Given the description of an element on the screen output the (x, y) to click on. 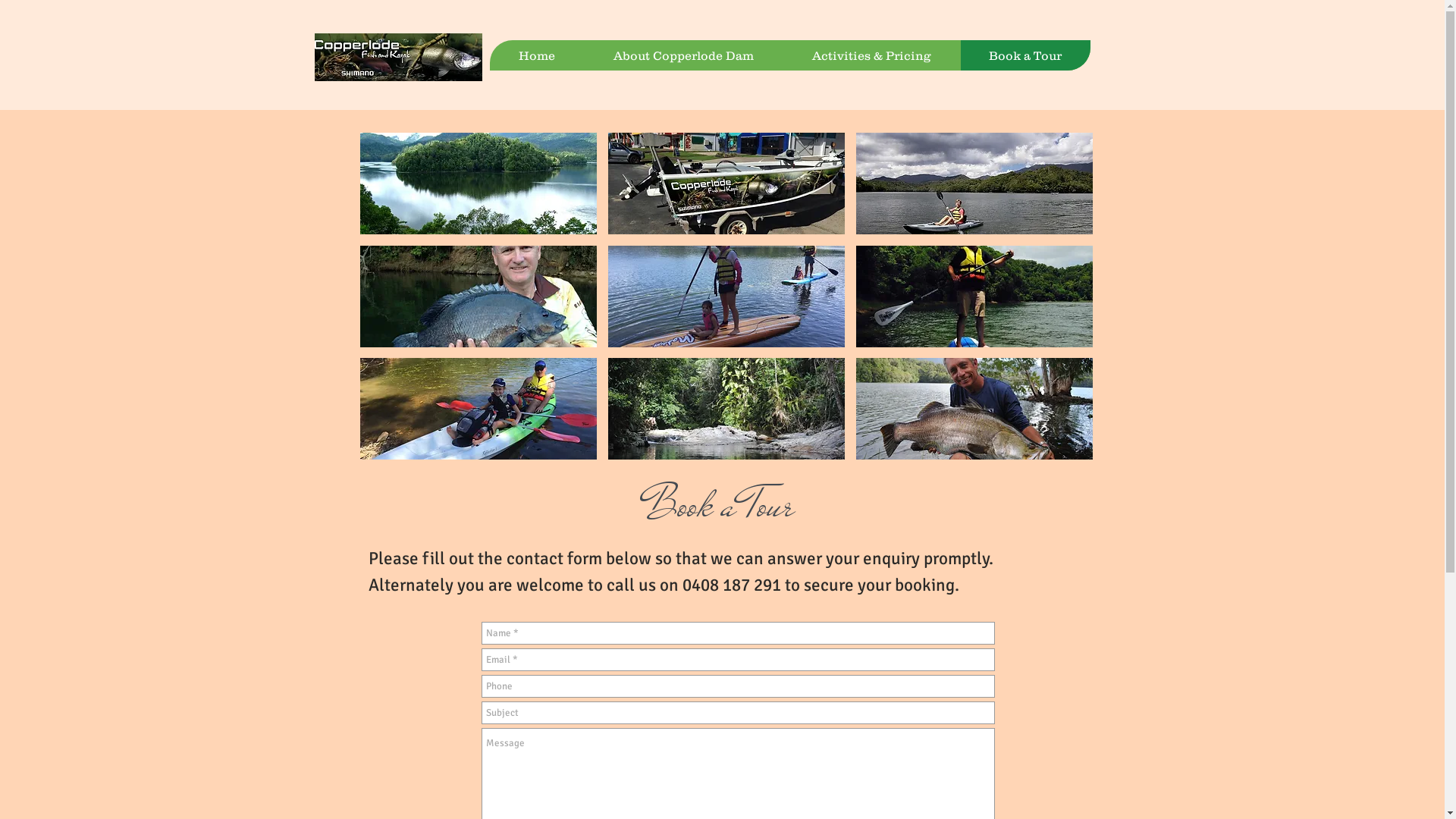
Activities & Pricing Element type: text (871, 55)
Book a Tour Element type: text (1025, 55)
Facebook Like Element type: hover (1337, 48)
About Copperlode Dam Element type: text (682, 55)
Home Element type: text (536, 55)
